Given the description of an element on the screen output the (x, y) to click on. 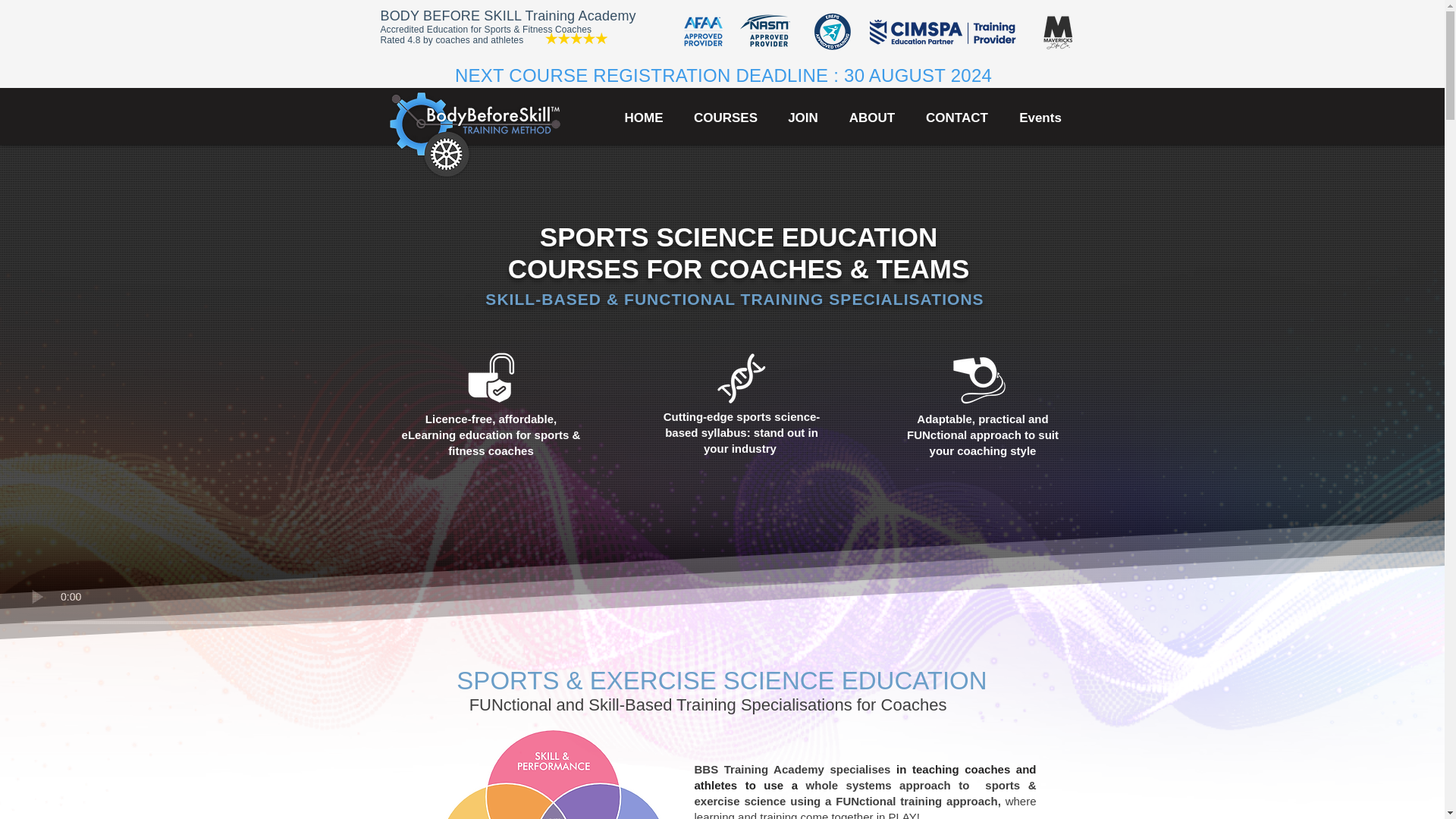
Events (1040, 117)
HOME (643, 117)
ABOUT (872, 117)
COURSES (726, 117)
NEXT COURSE REGISTRATION DEADLINE : 30 AUGUST 2024 (722, 75)
CONTACT (956, 117)
JOIN (801, 117)
